Given the description of an element on the screen output the (x, y) to click on. 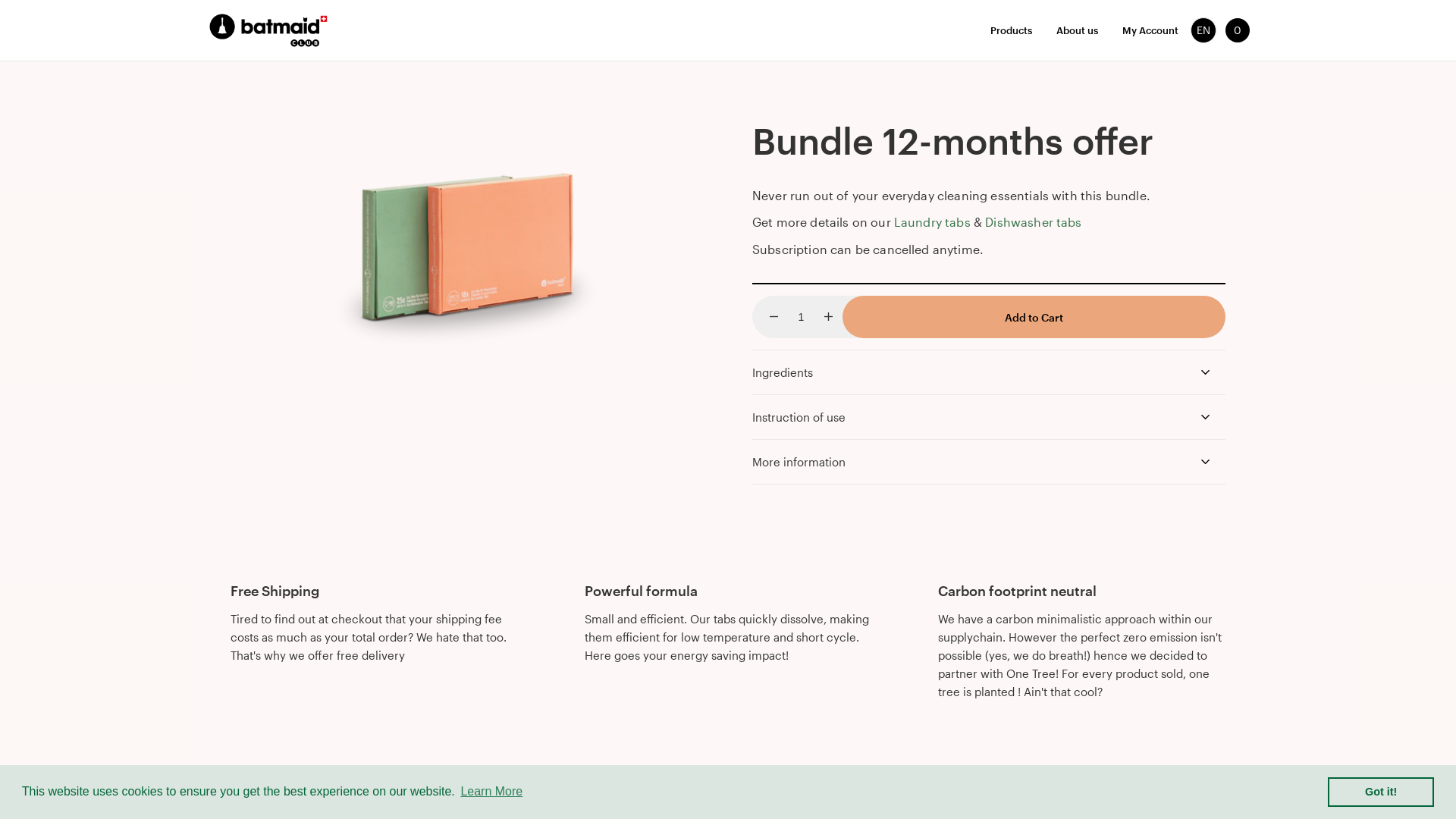
Learn More Element type: text (491, 791)
Dishwasher tabs Element type: text (1033, 221)
Add to Cart Element type: text (1033, 316)
My Account Element type: text (1150, 29)
Products Element type: text (1011, 29)
Got it! Element type: text (1380, 791)
About us Element type: text (1077, 29)
EN Element type: text (1203, 30)
Laundry tabs Element type: text (932, 221)
